Given the description of an element on the screen output the (x, y) to click on. 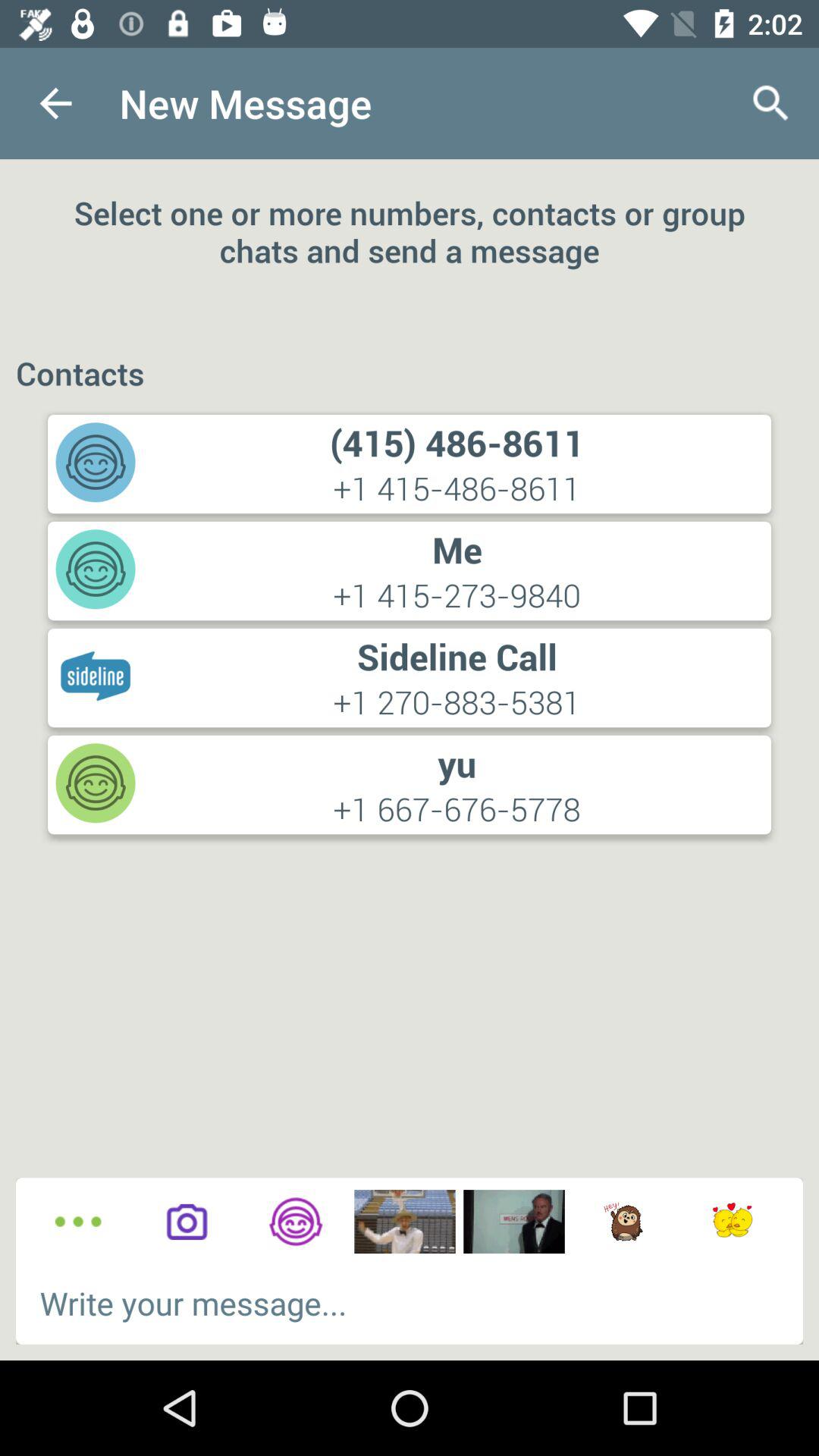
turn off the icon below the 1 667 676 icon (295, 1221)
